Given the description of an element on the screen output the (x, y) to click on. 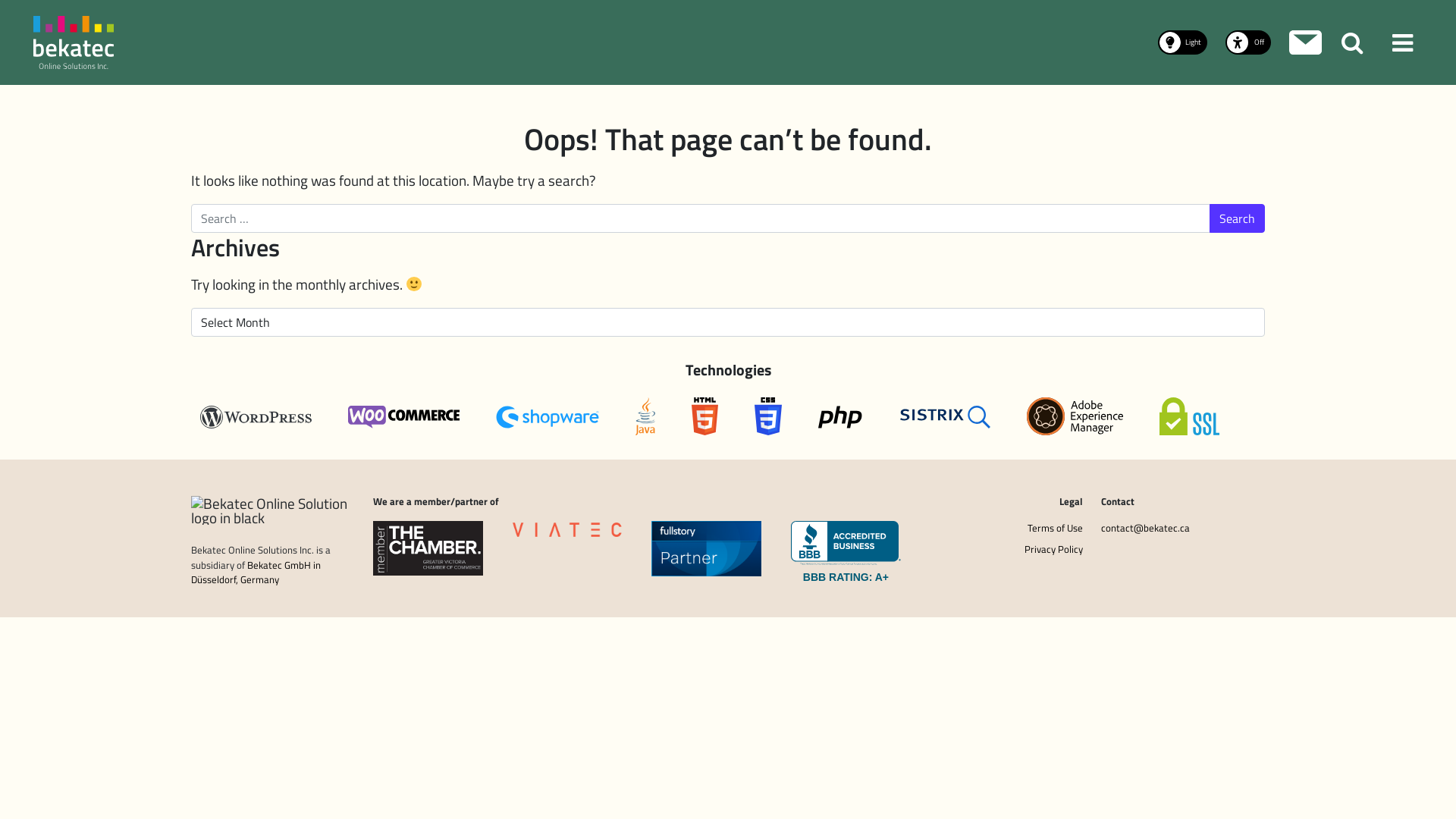
contact@bekatec.ca Element type: text (1182, 530)
BBB RATING: A+ Element type: text (845, 575)
Terms of Use Element type: text (1000, 530)
Privacy Policy Element type: text (1000, 552)
Search Element type: text (1236, 217)
